Given the description of an element on the screen output the (x, y) to click on. 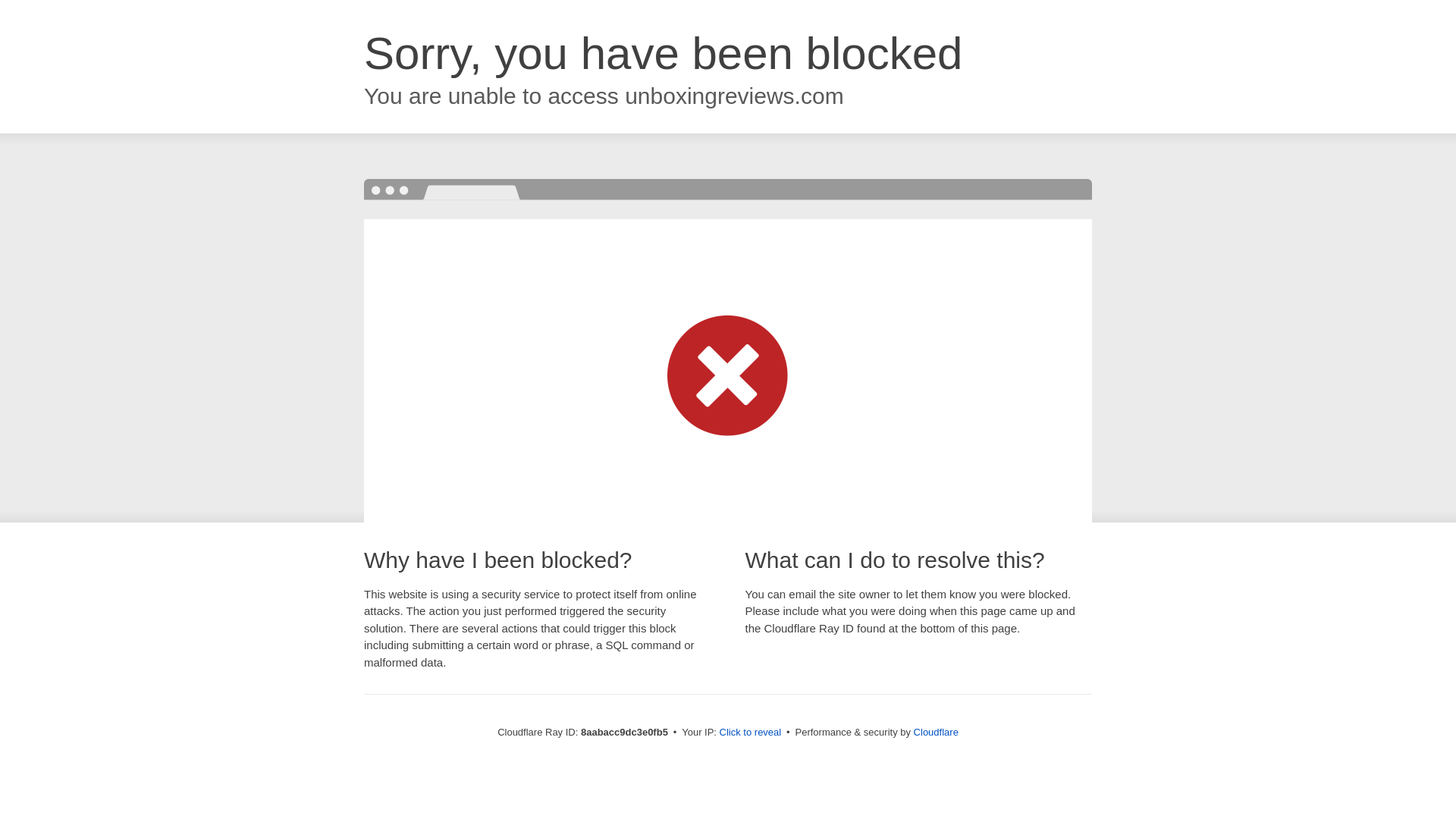
Cloudflare (936, 731)
Click to reveal (750, 732)
